Given the description of an element on the screen output the (x, y) to click on. 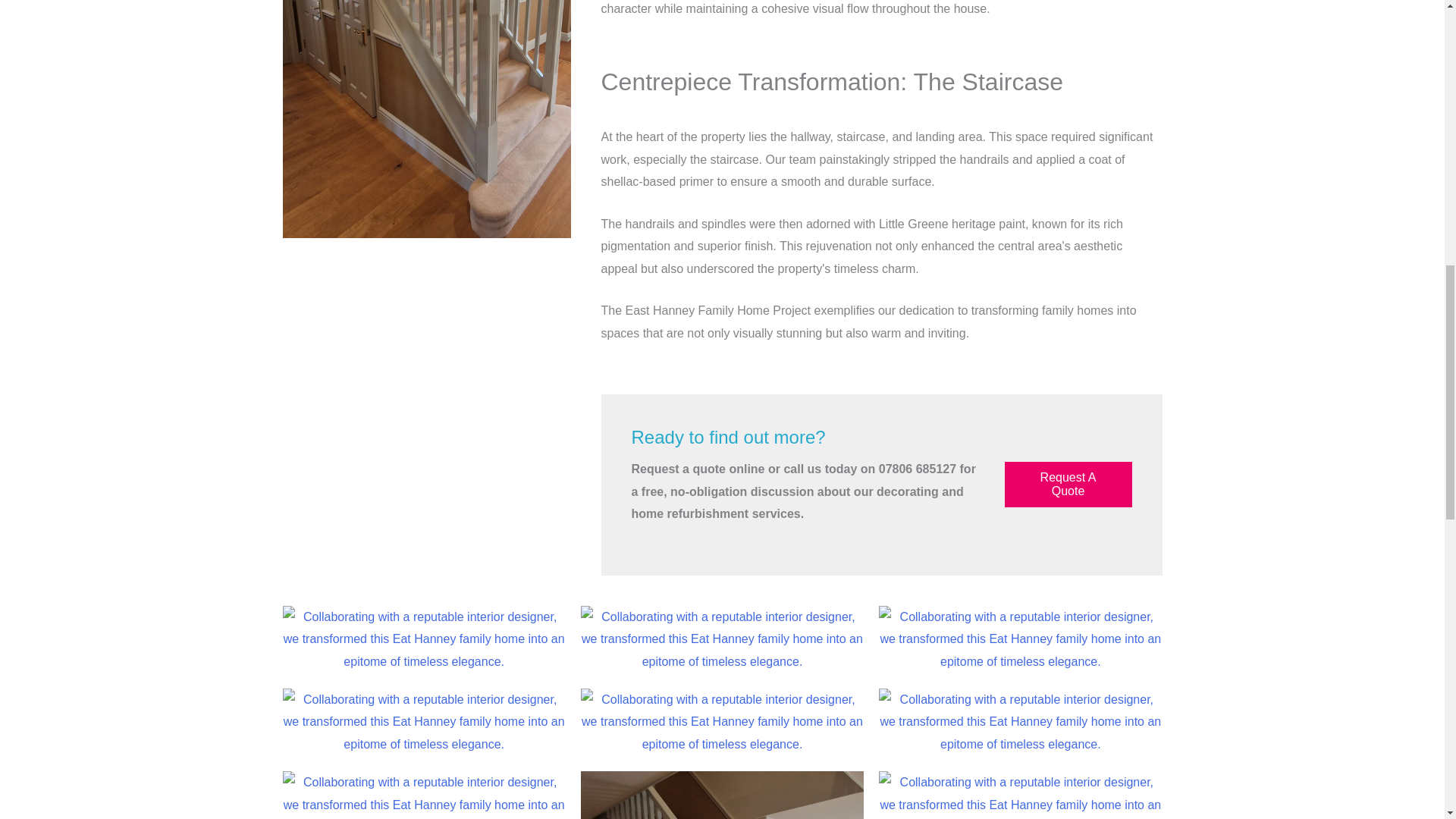
East-Hanney-900-x-600-5 (423, 721)
East-Hanney-600-x-900-9 (721, 795)
Request A Quote (1067, 483)
East-Hanney-900-x-600-10 (1020, 795)
East-Hanney-1000-x-800-6 (721, 721)
East-Hanney-1 (423, 639)
East-Hanney-600-x-900-9 (426, 119)
East-Hanney-900-x-600-8 (423, 795)
East-Hanney-900-x-600-7 (1020, 721)
East-Hanney-900-x-600-4 (1020, 639)
